Given the description of an element on the screen output the (x, y) to click on. 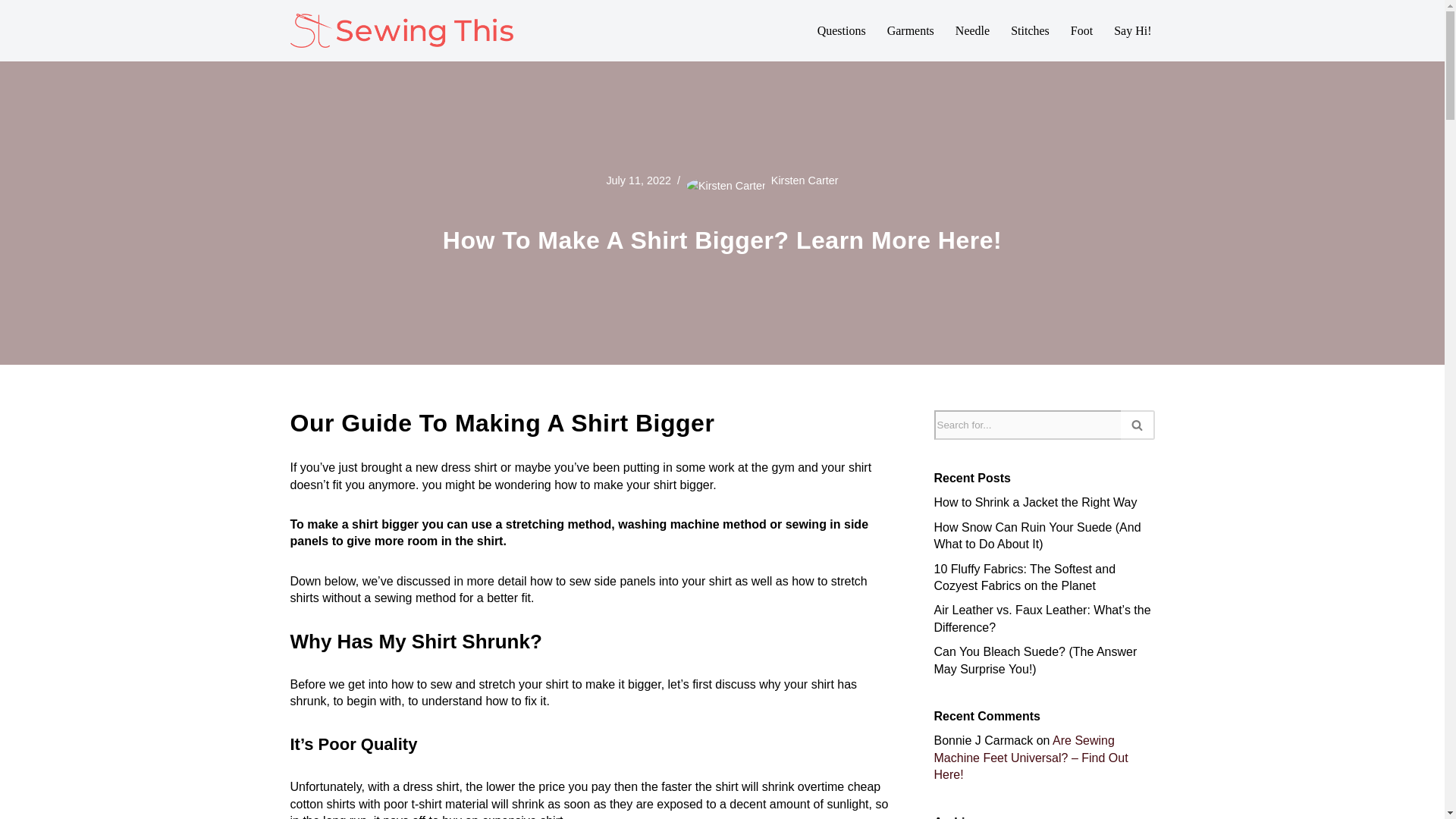
Kirsten Carter (804, 180)
Stitches (1029, 30)
Say Hi! (1132, 30)
Foot (1081, 30)
Garments (910, 30)
Needle (972, 30)
Posts by Kirsten Carter (804, 180)
Questions (841, 30)
Skip to content (11, 31)
